Given the description of an element on the screen output the (x, y) to click on. 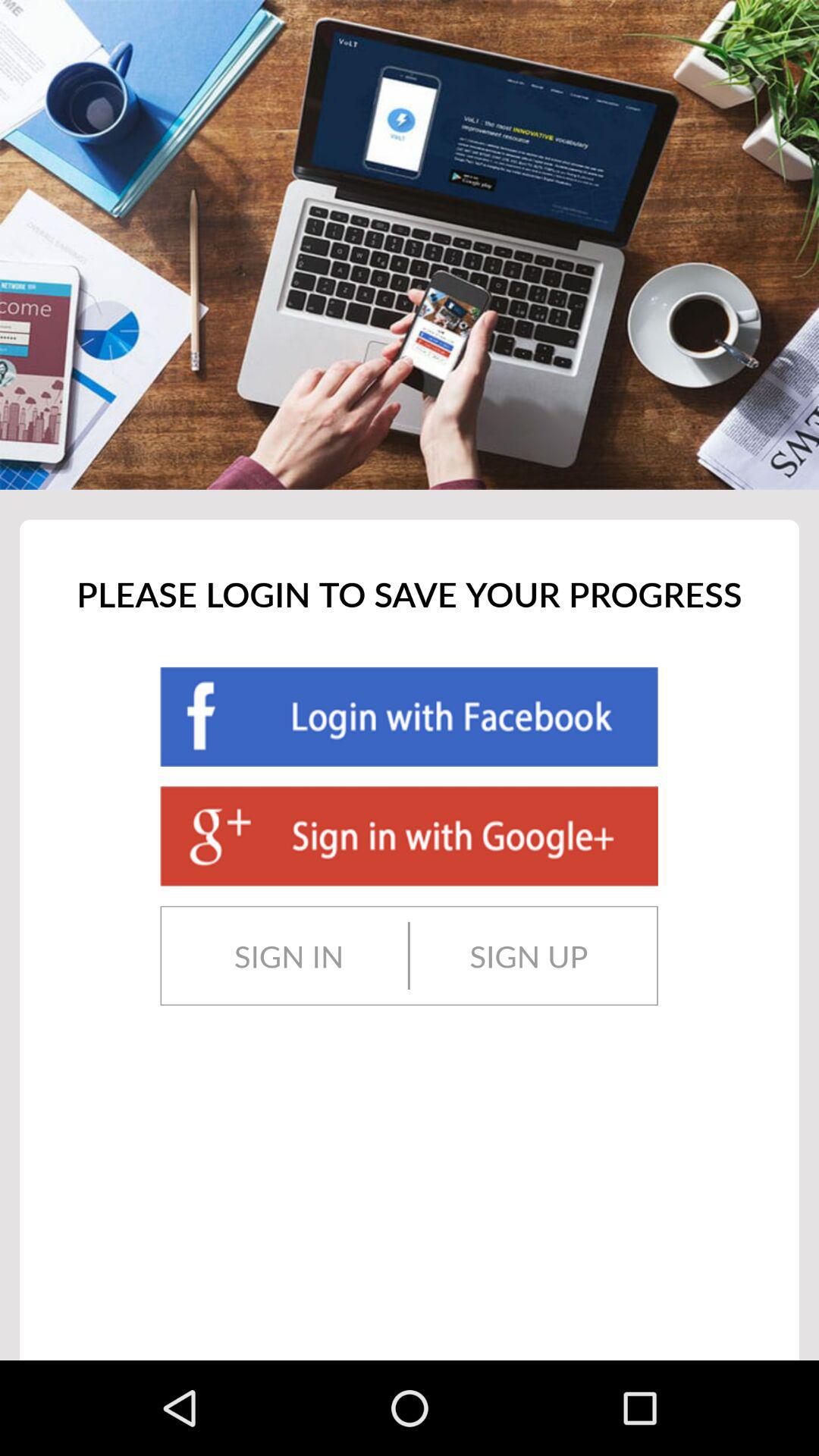
scroll until the sign in (288, 955)
